Given the description of an element on the screen output the (x, y) to click on. 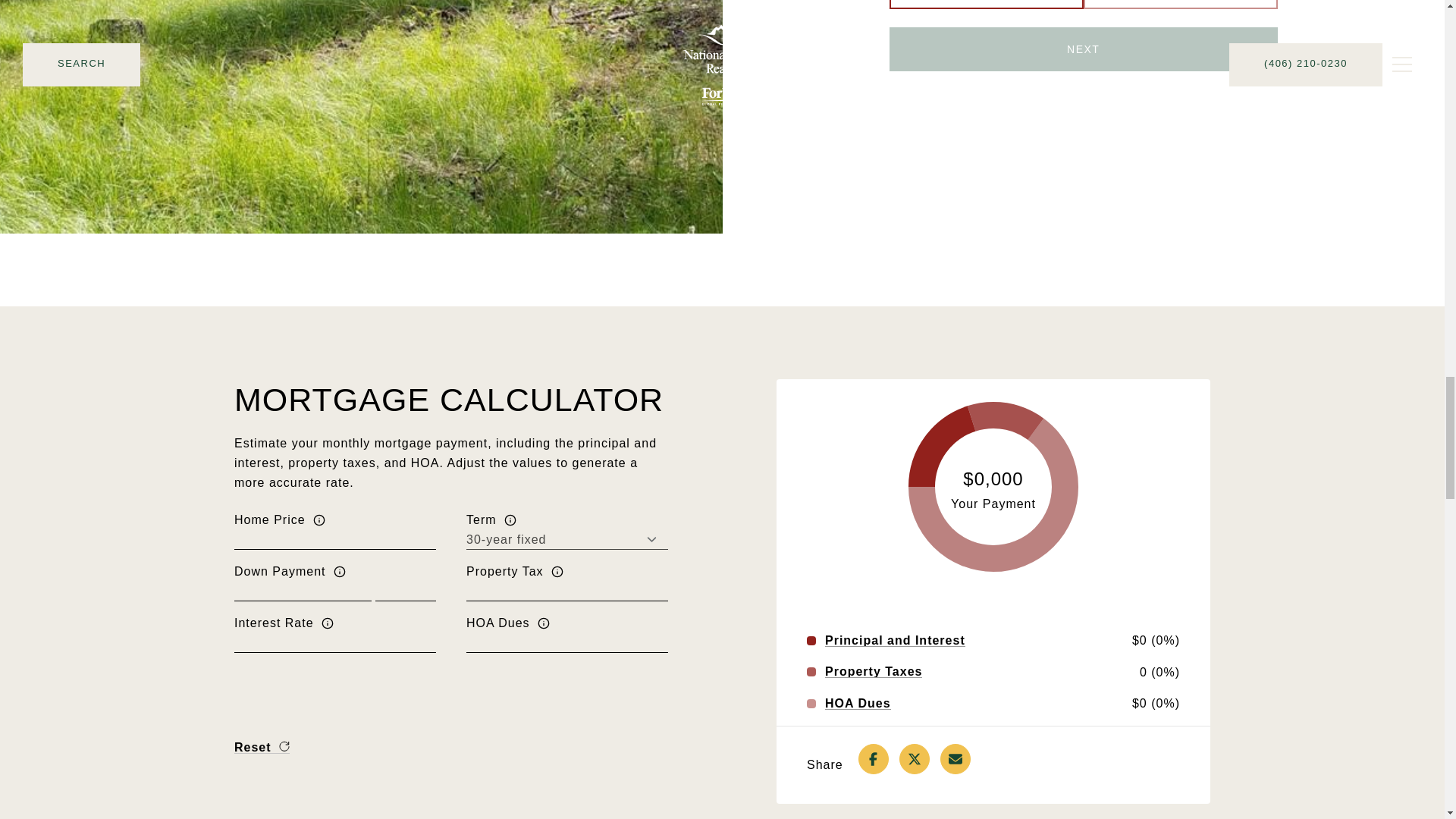
Principal and Interest (895, 640)
Property Taxes (873, 671)
NEXT (1083, 49)
HOA Dues (858, 703)
Reset (261, 747)
